Given the description of an element on the screen output the (x, y) to click on. 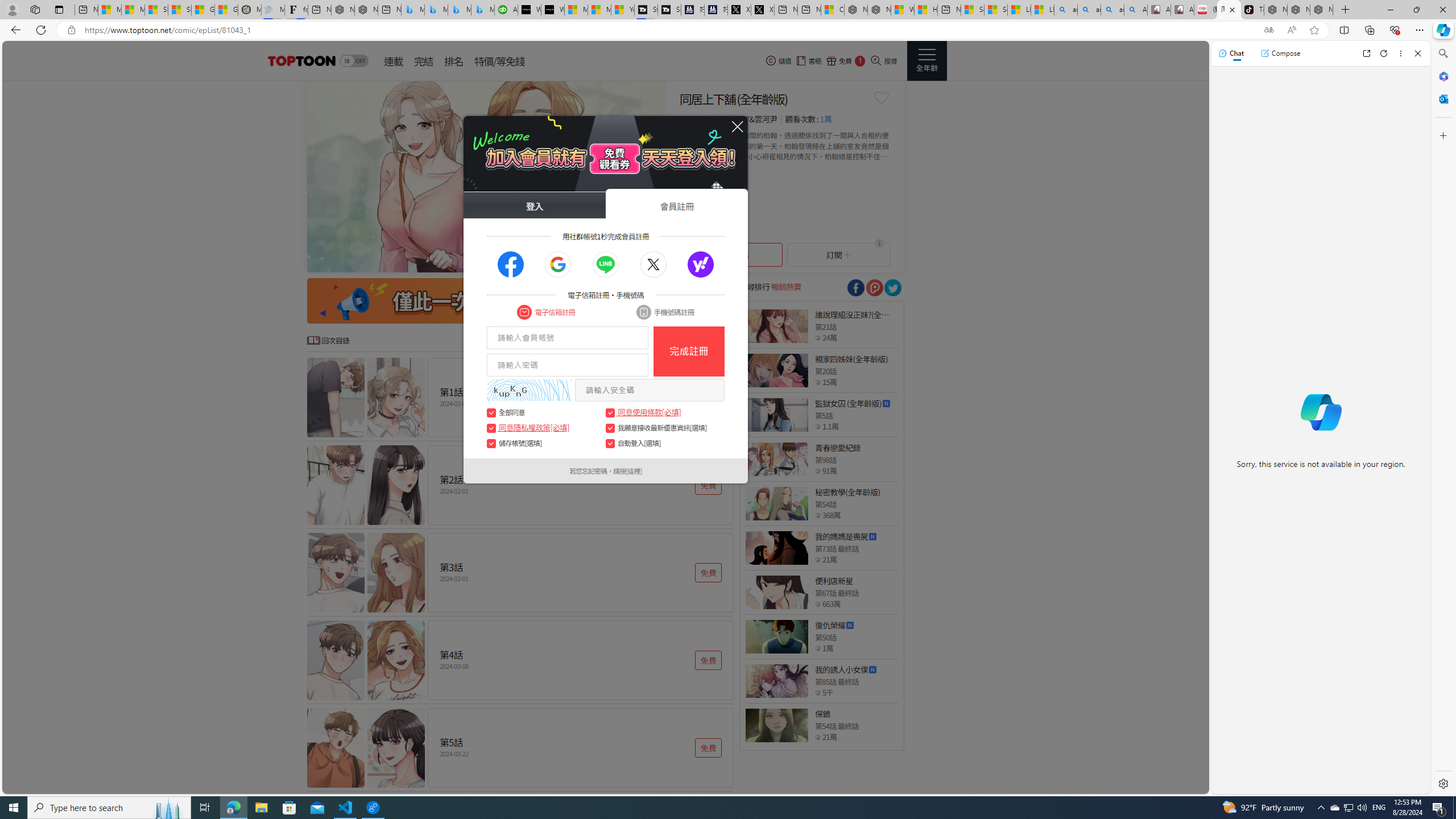
Read aloud this page (Ctrl+Shift+U) (1291, 29)
captcha (529, 390)
Microsoft Bing Travel - Stays in Bangkok, Bangkok, Thailand (435, 9)
Settings (1442, 783)
Manatee Mortality Statistics | FWC (249, 9)
